Given the description of an element on the screen output the (x, y) to click on. 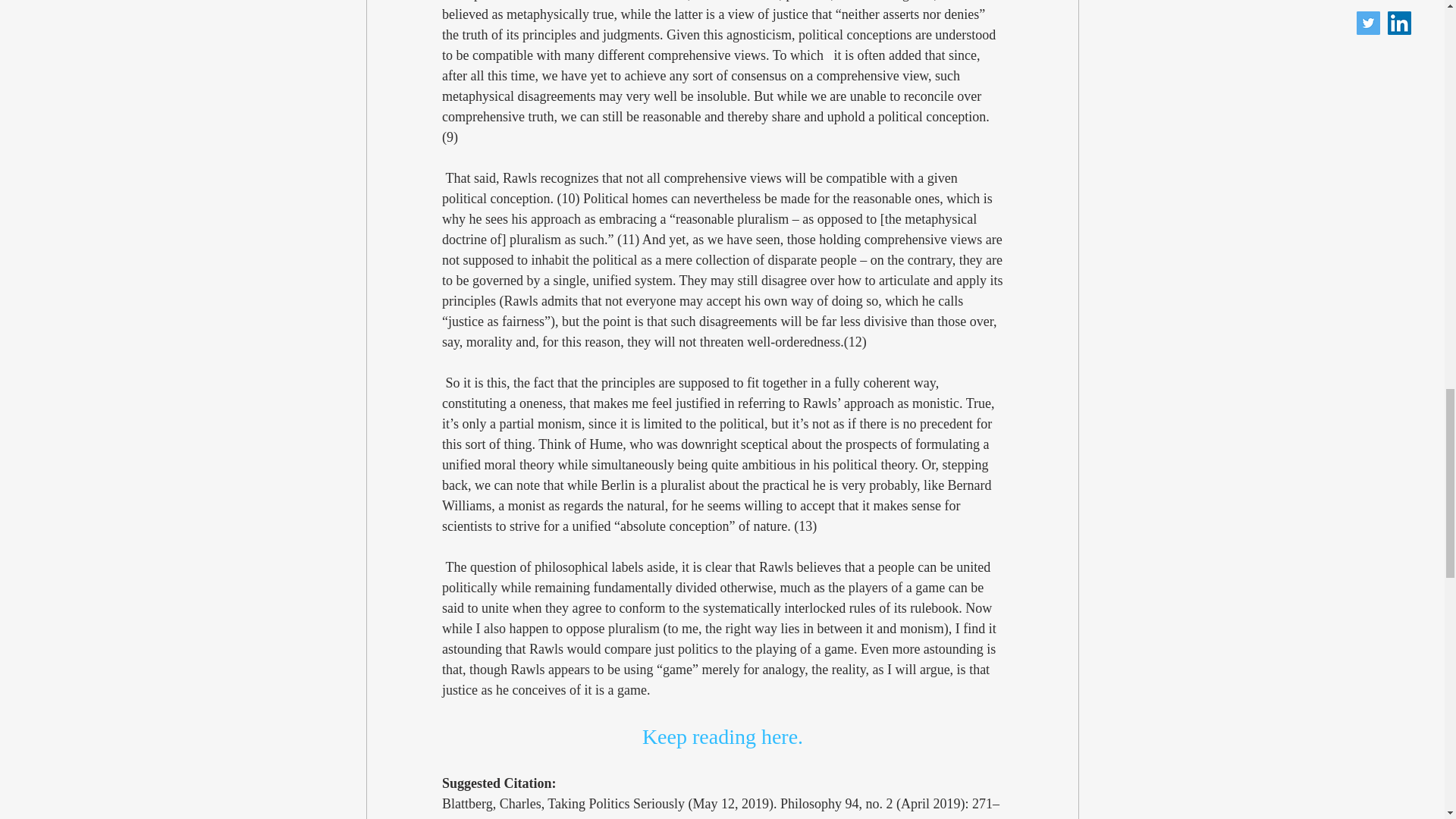
Keep reading here. (722, 736)
